Given the description of an element on the screen output the (x, y) to click on. 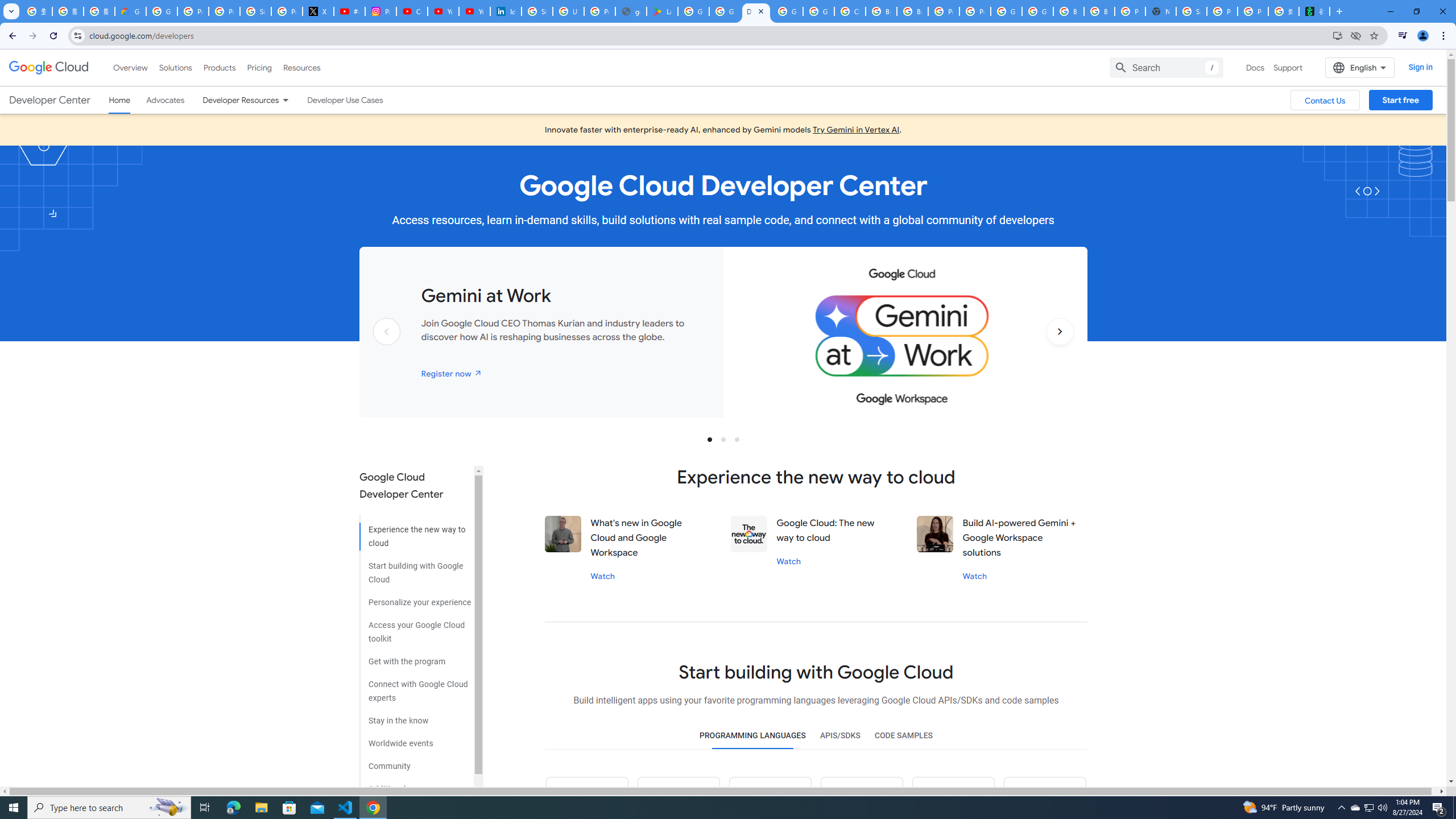
Home, selected (119, 99)
Google Cloud (48, 67)
PROGRAMMING LANGUAGES (752, 735)
Advocates (165, 99)
New Tab (1160, 11)
Additional resources (415, 784)
Stephanie wong's interview session (935, 533)
Previous slide (386, 349)
Google Cloud Platform (1037, 11)
